Given the description of an element on the screen output the (x, y) to click on. 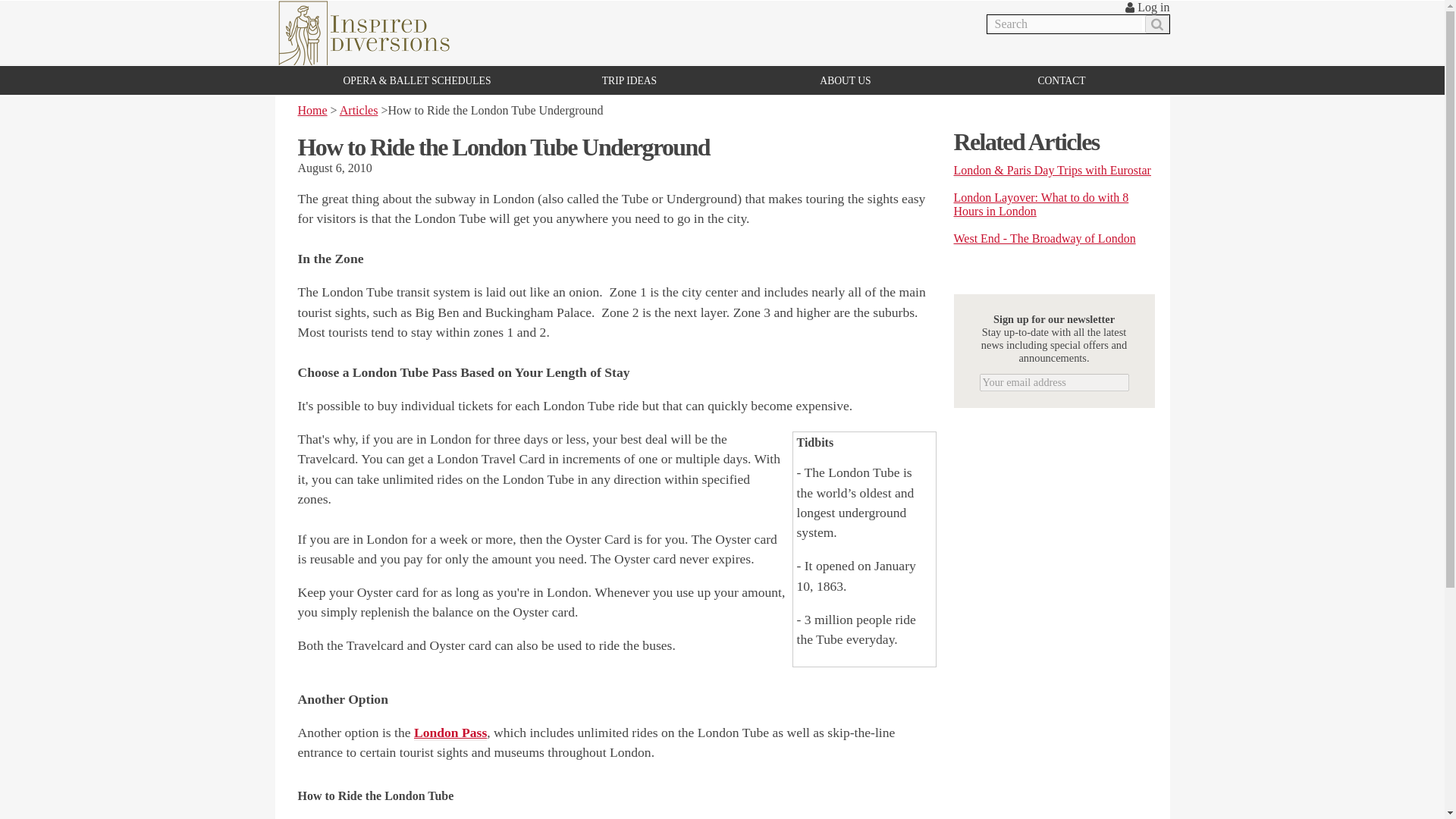
London Layover: What to do with 8 Hours in London (1041, 204)
West End - The Broadway of London (1044, 238)
CONTACT (1060, 80)
London Pass (449, 732)
ABOUT US (844, 80)
Articles (358, 110)
TRIP IDEAS (629, 80)
Home (311, 110)
